Given the description of an element on the screen output the (x, y) to click on. 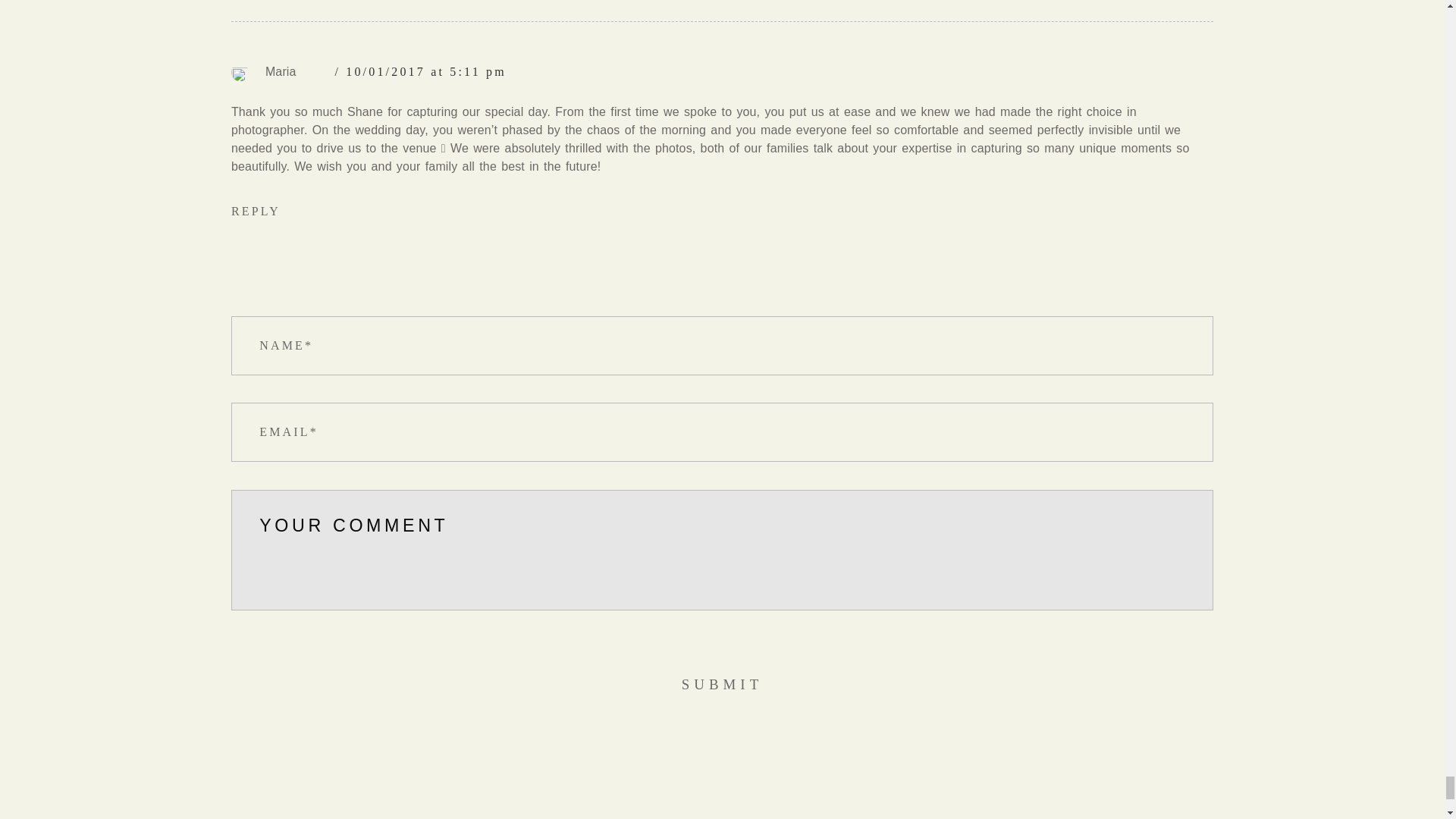
SUBMIT (721, 683)
SUBMIT (721, 683)
REPLY (256, 210)
